Given the description of an element on the screen output the (x, y) to click on. 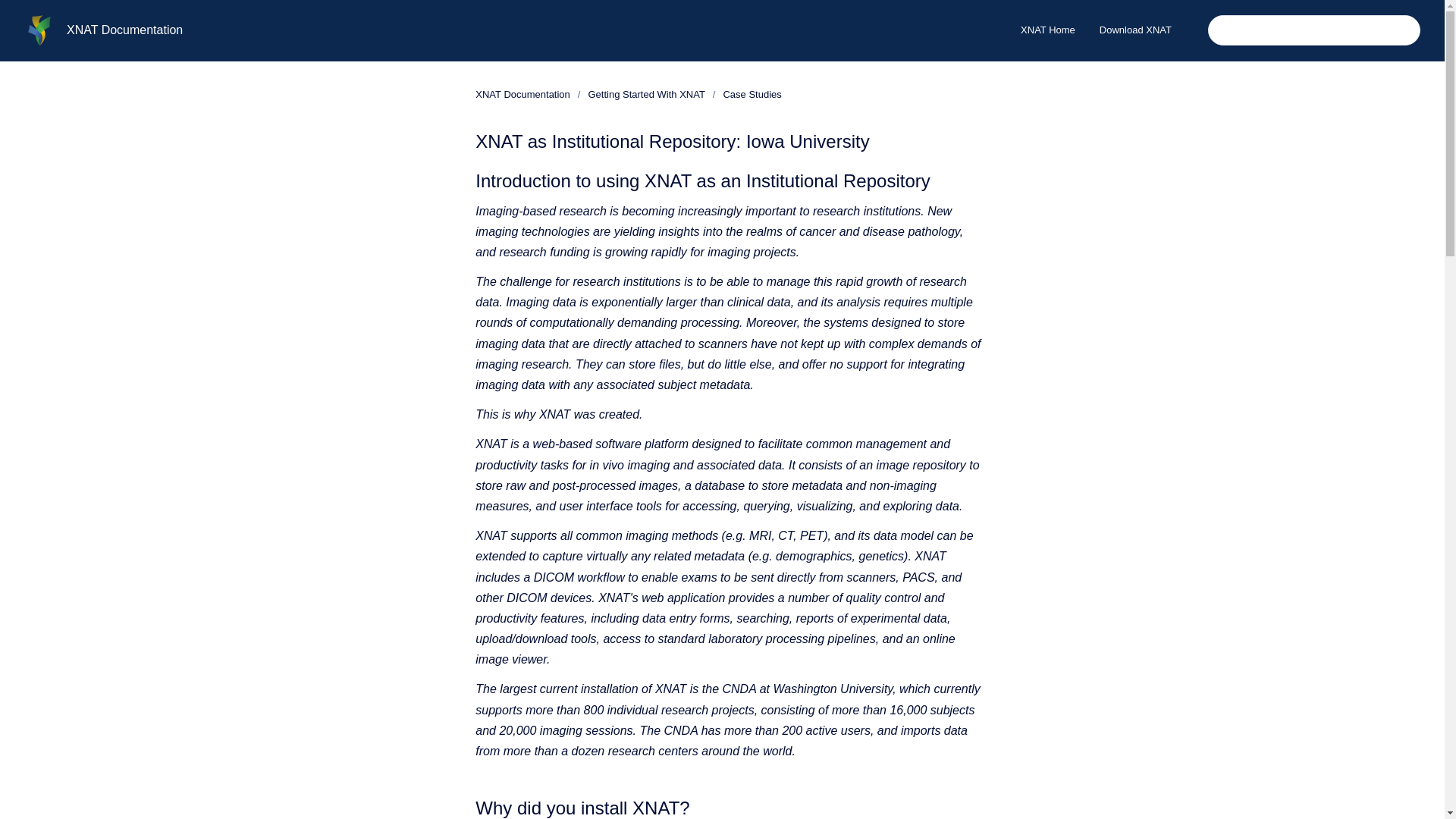
Case Studies (751, 94)
Download XNAT (1135, 29)
XNAT Documentation (124, 29)
Go to homepage (39, 30)
Getting Started With XNAT (646, 94)
XNAT Documentation (523, 94)
XNAT Home (1048, 29)
